Given the description of an element on the screen output the (x, y) to click on. 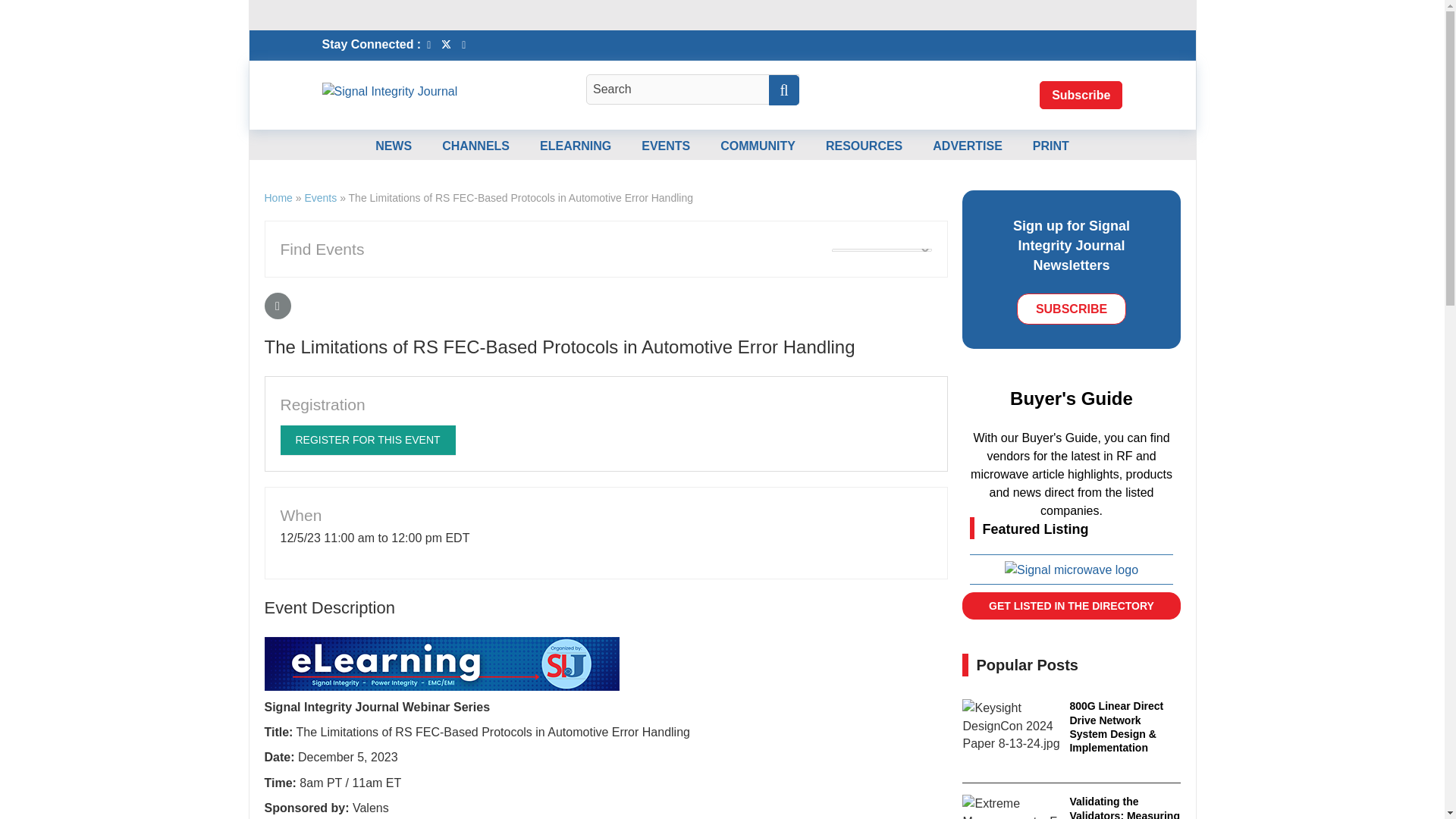
COMMUNITY (758, 145)
NEWS (393, 145)
CHANNELS (474, 145)
EVENTS (665, 145)
ELEARNING (575, 145)
Subscribe (1080, 94)
Keysight DesignCon 2024 Paper 8-13-24.jpg (1010, 725)
